Given the description of an element on the screen output the (x, y) to click on. 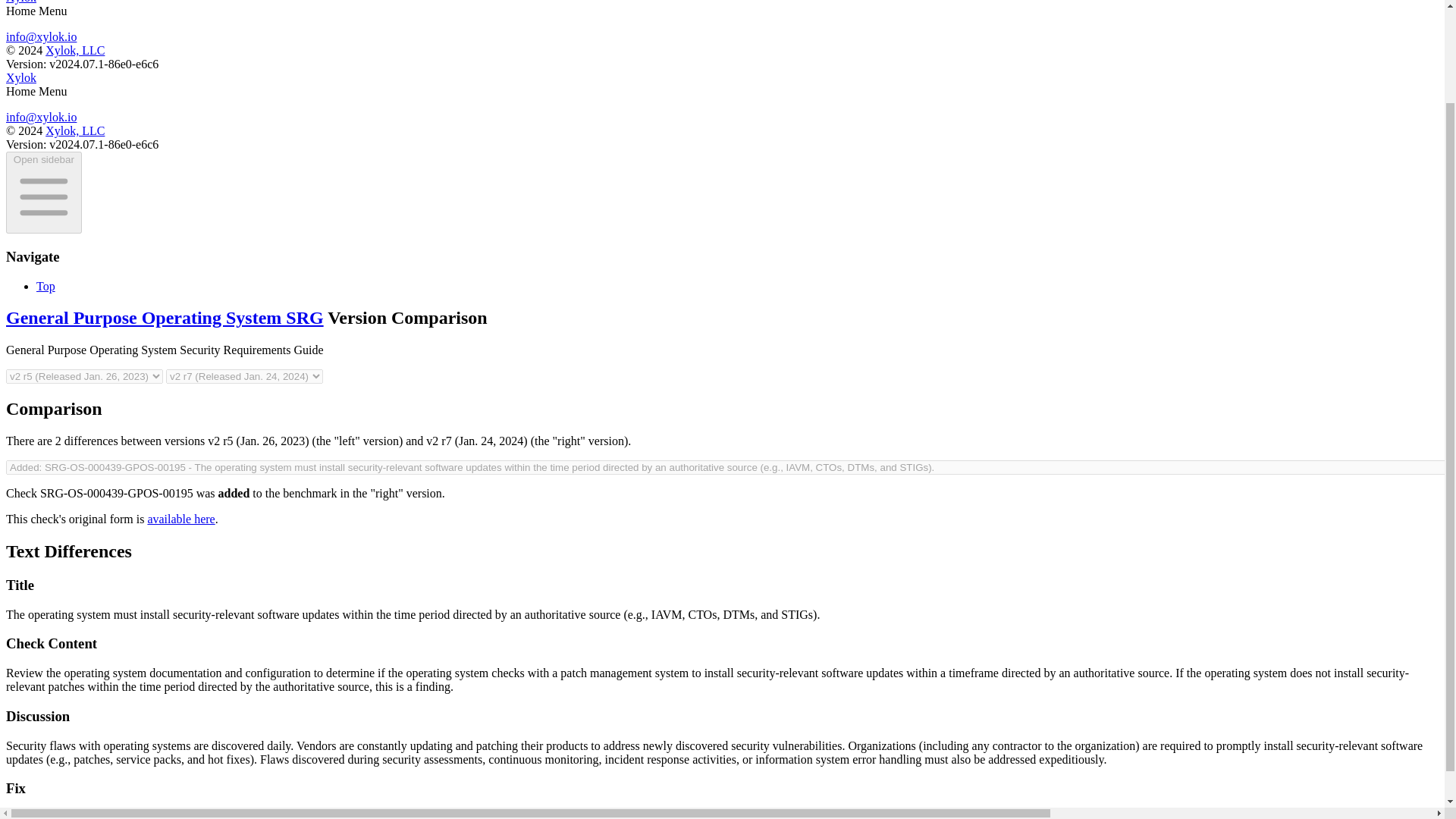
Top (45, 286)
available here (180, 518)
Open sidebar (43, 192)
Home Menu (35, 10)
Xylok, LLC (74, 50)
Xylok, LLC (74, 130)
Xylok (20, 77)
General Purpose Operating System SRG (164, 317)
Home Menu (35, 91)
Xylok (20, 2)
